Given the description of an element on the screen output the (x, y) to click on. 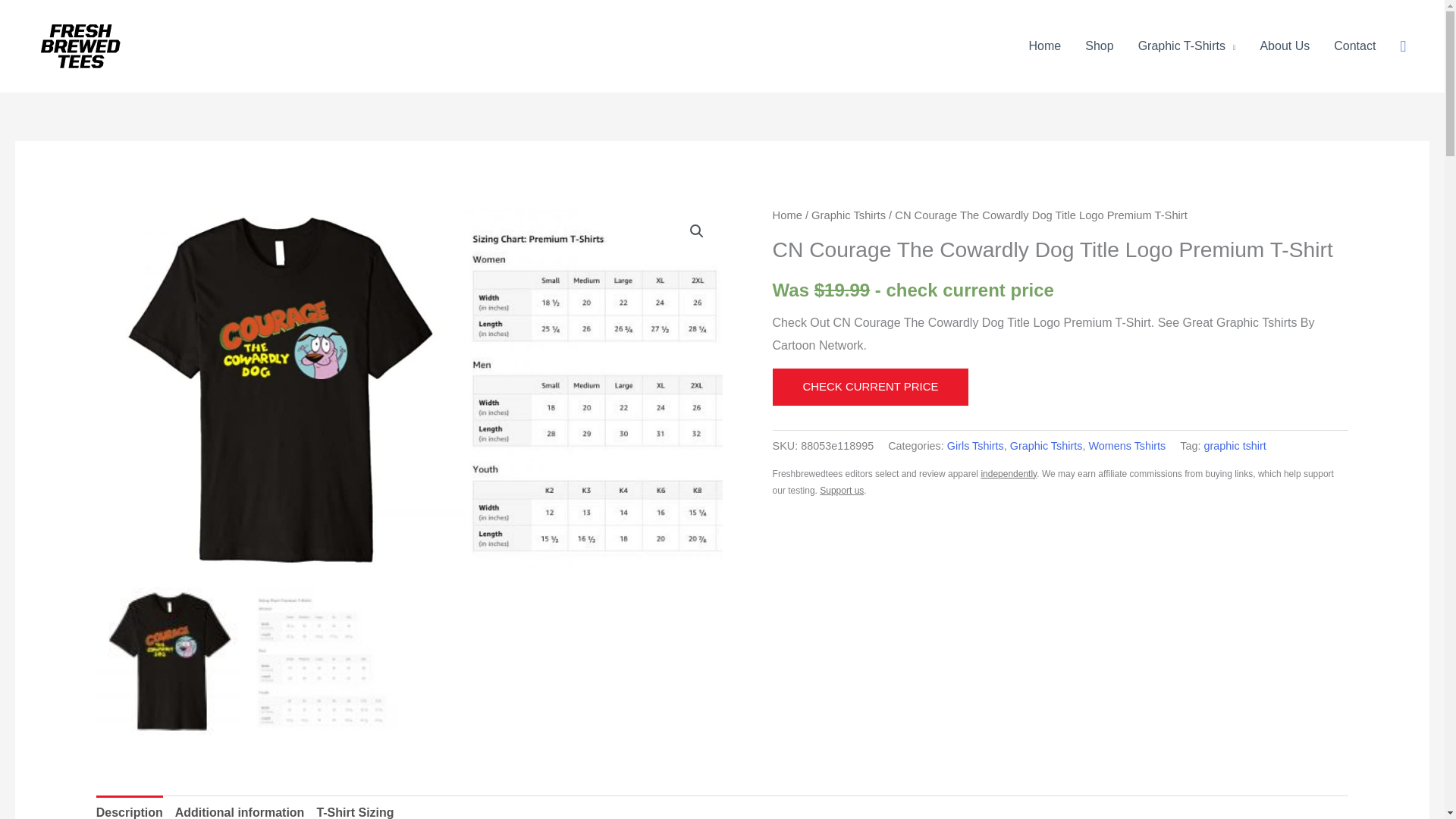
Contact (1354, 46)
Home (787, 215)
Womens Tshirts (1126, 445)
Girls Tshirts (975, 445)
Shop (1099, 46)
independently (1007, 473)
Description (129, 806)
graphic tshirt (1234, 445)
Home (1045, 46)
T-Shirt Sizing (354, 806)
